Given the description of an element on the screen output the (x, y) to click on. 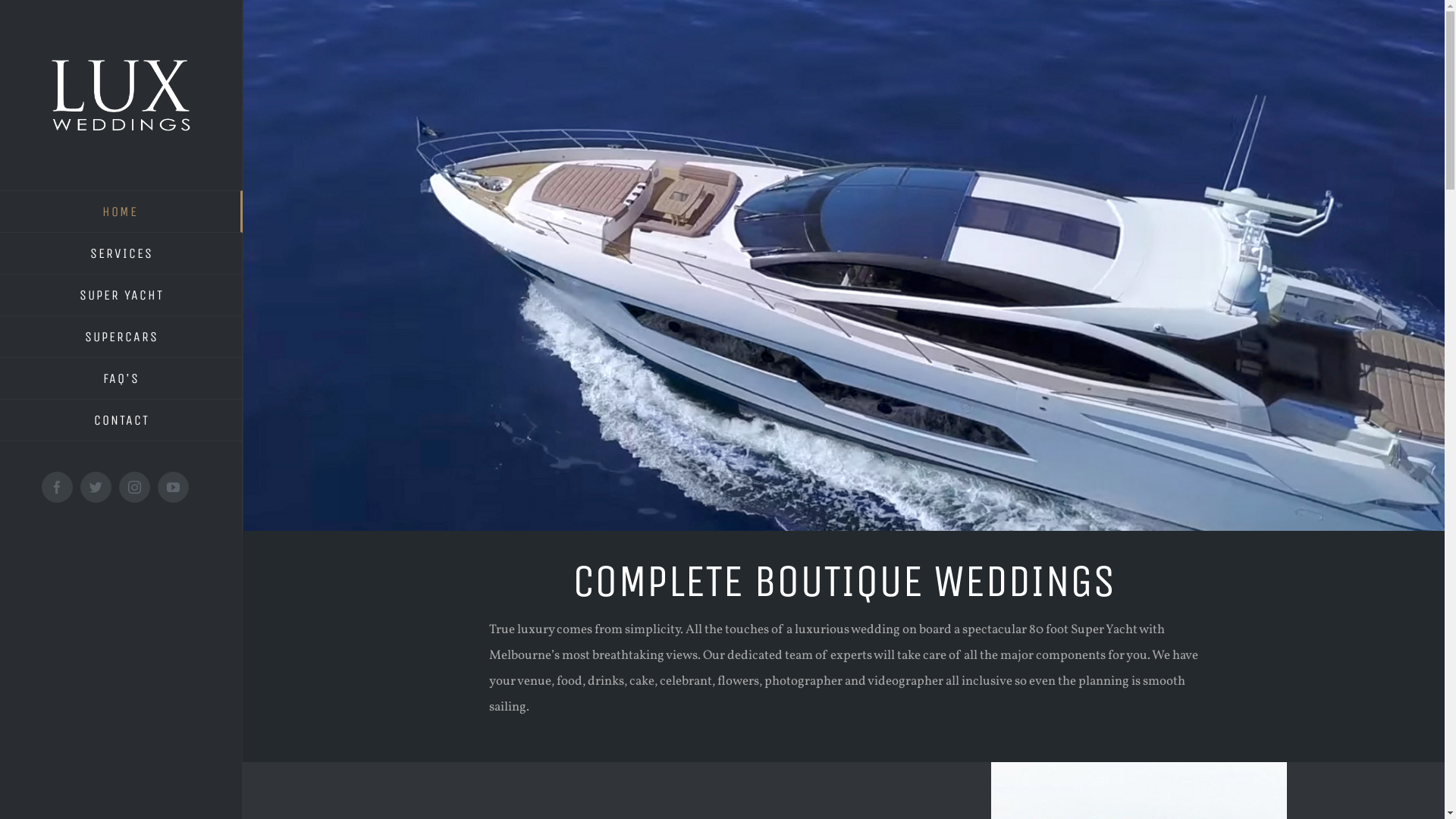
SUPERCARS Element type: text (121, 336)
Facebook Element type: text (56, 486)
YouTube Element type: text (172, 486)
SERVICES Element type: text (121, 253)
SUPER YACHT Element type: text (121, 295)
HOME Element type: text (121, 211)
Twitter Element type: text (95, 486)
Instagram Element type: text (134, 486)
CONTACT Element type: text (121, 420)
